Given the description of an element on the screen output the (x, y) to click on. 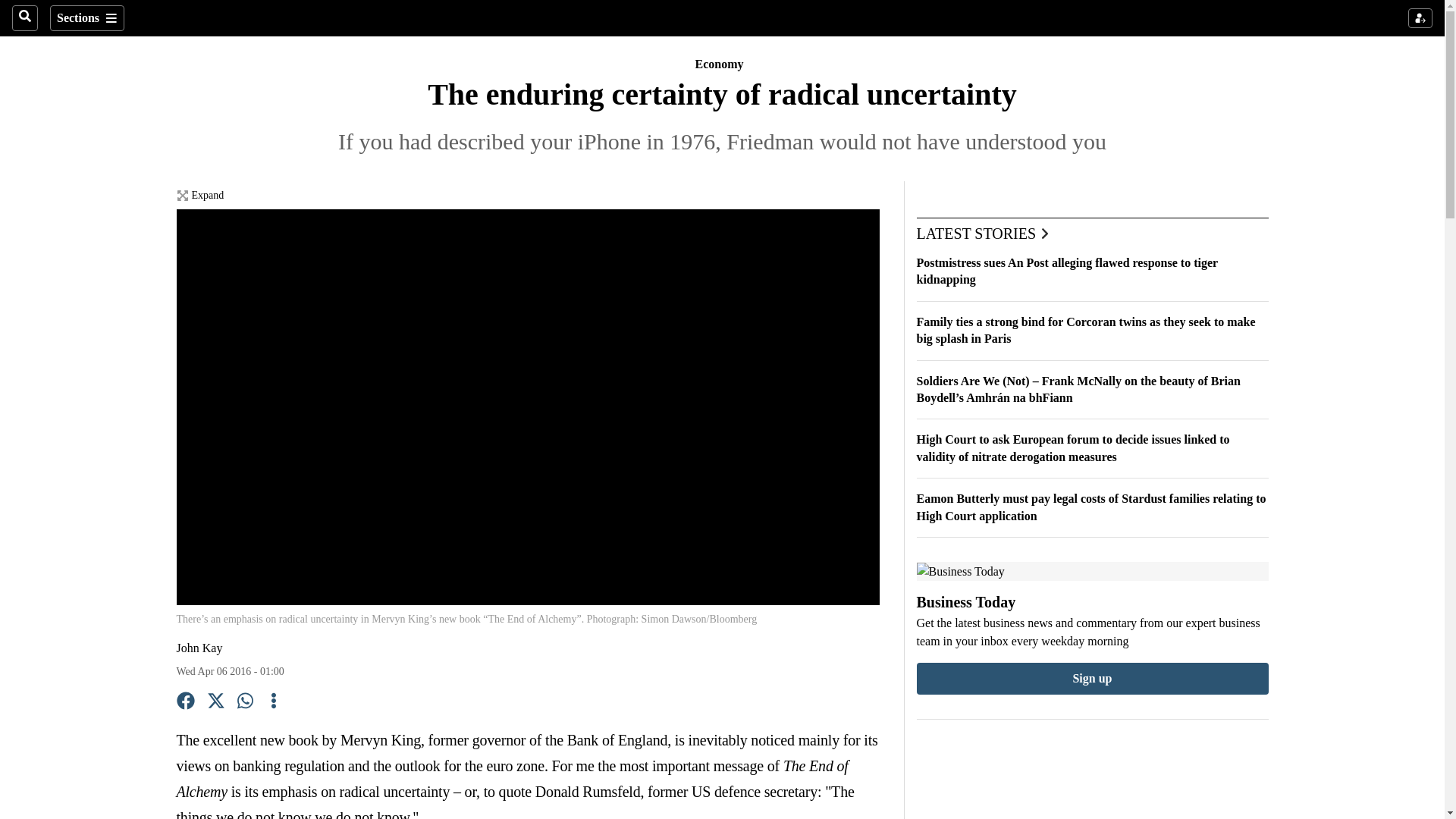
Sections (86, 17)
